Given the description of an element on the screen output the (x, y) to click on. 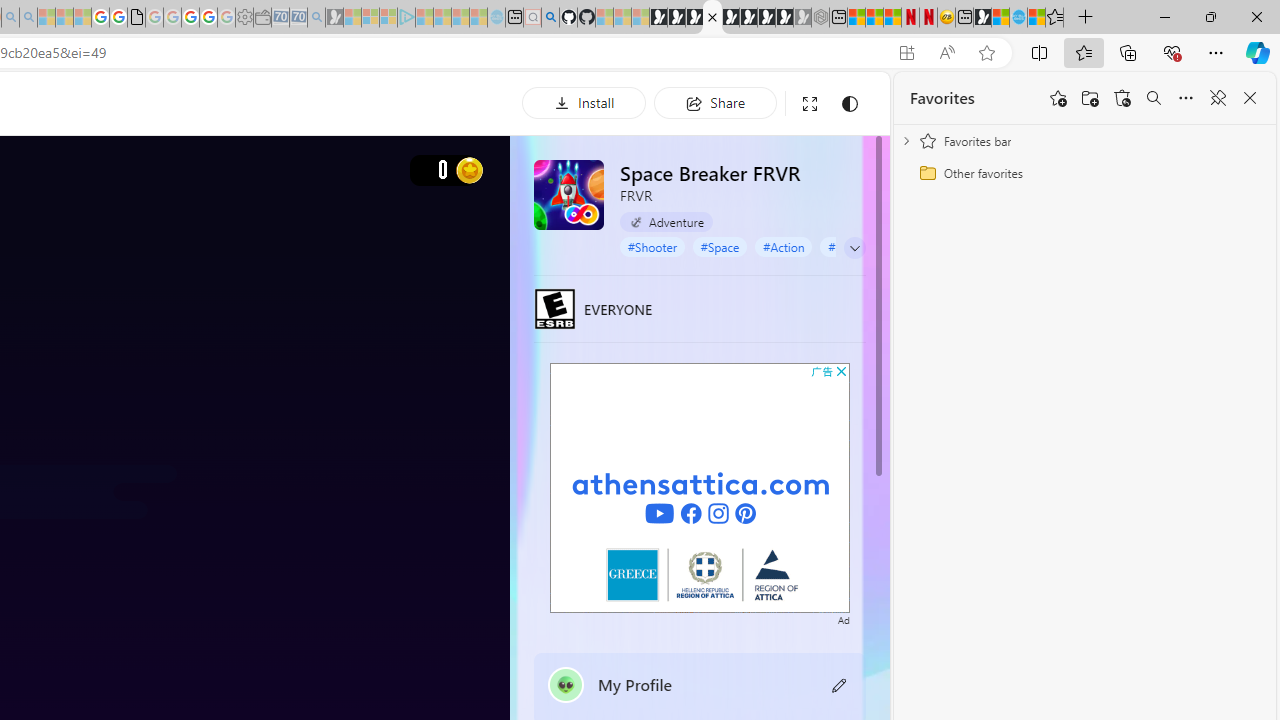
Class: control (855, 248)
Home | Sky Blue Bikes - Sky Blue Bikes (1017, 17)
Play Cave FRVR in your browser | Games from Microsoft Start (694, 17)
Settings - Sleeping (244, 17)
Class: button edit-icon (839, 684)
Adventure (665, 221)
Home | Sky Blue Bikes - Sky Blue Bikes - Sleeping (496, 17)
Unpin favorites (1217, 98)
Restore deleted favorites (1122, 98)
Microsoft Start Gaming - Sleeping (334, 17)
